Given the description of an element on the screen output the (x, y) to click on. 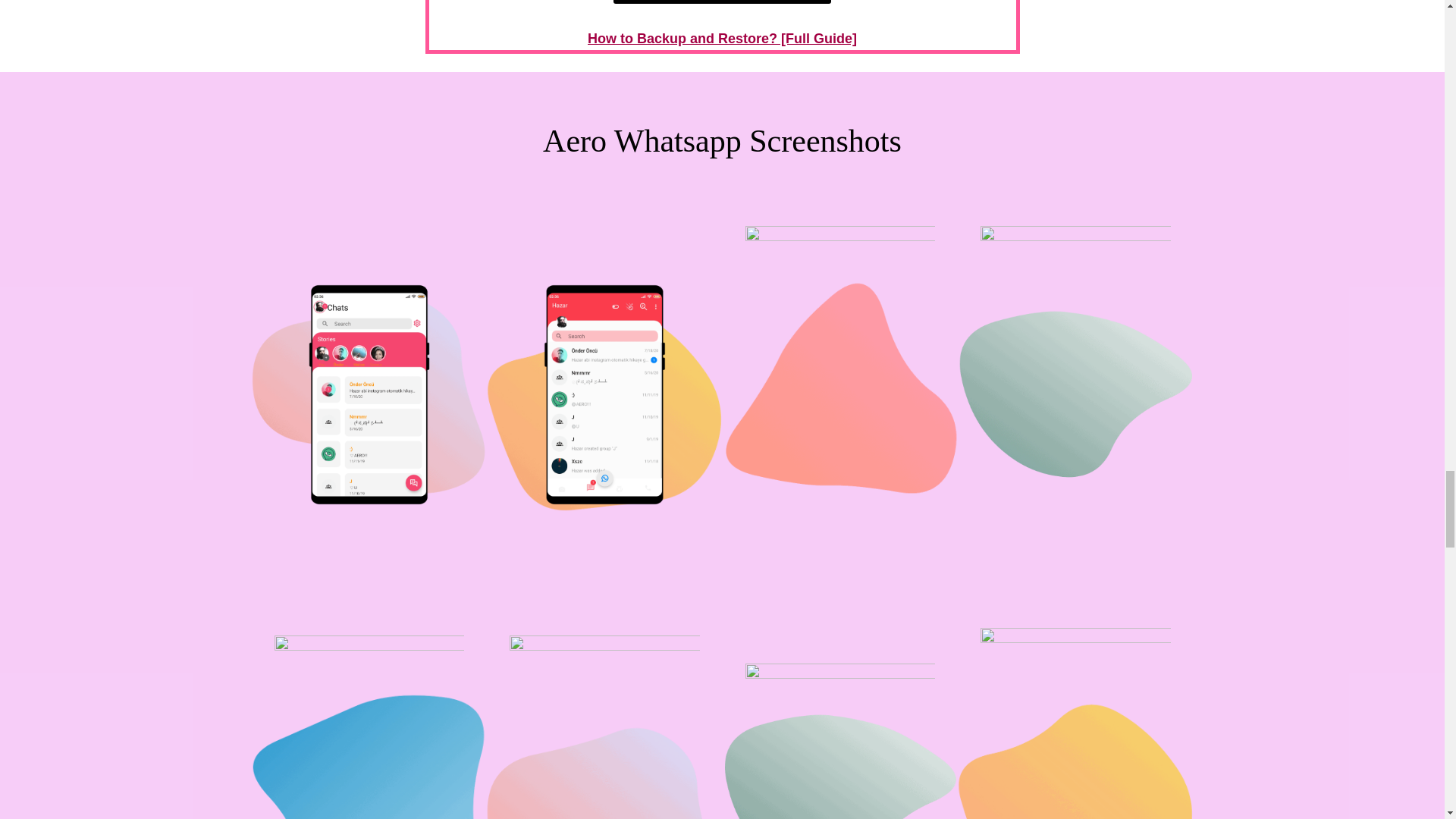
Download WhatsApp Aero (720, 1)
